Given the description of an element on the screen output the (x, y) to click on. 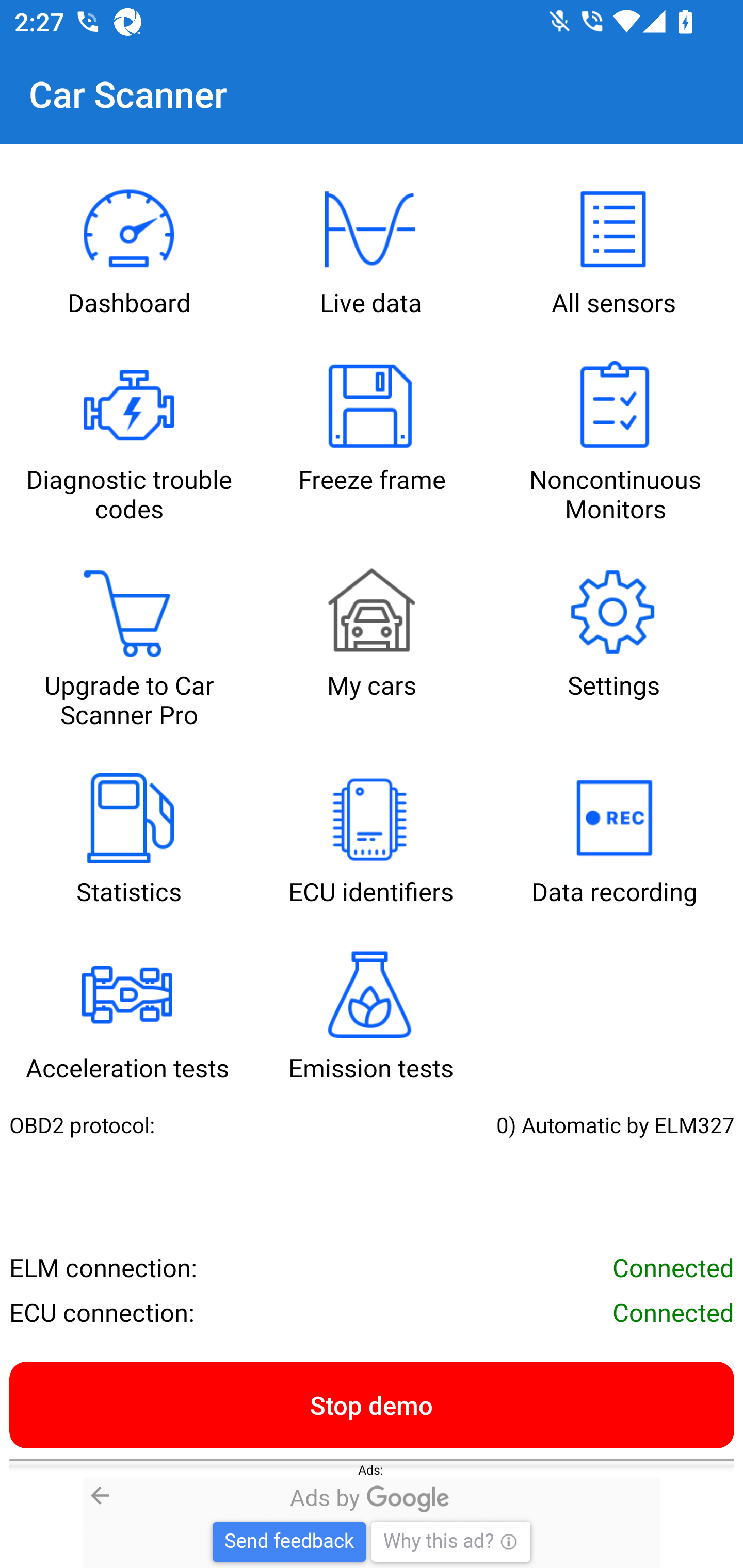
Stop demo (371, 1404)
